Given the description of an element on the screen output the (x, y) to click on. 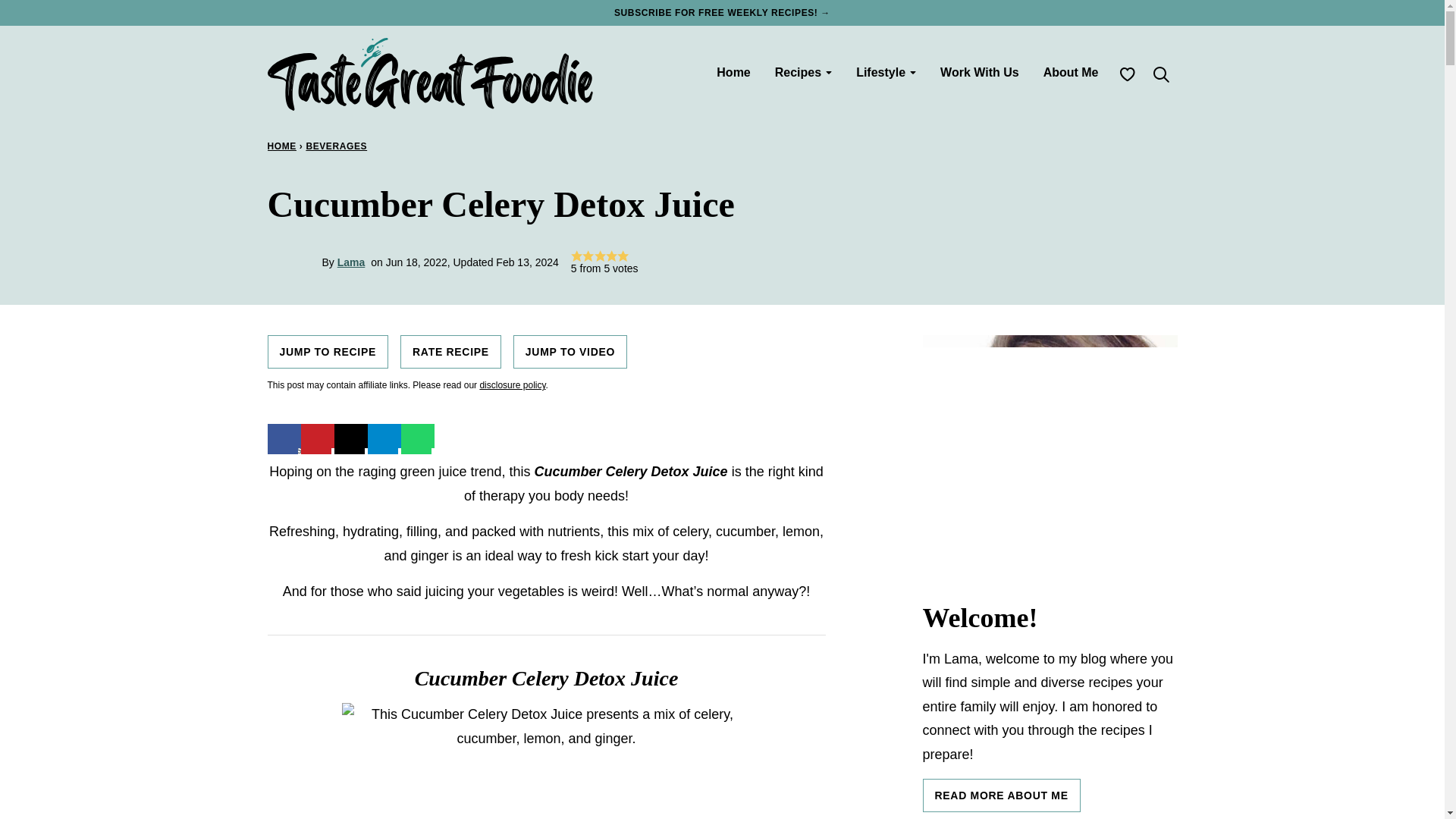
Recipes (803, 72)
Share on Telegram (383, 435)
About Me (1070, 72)
Work With Us (979, 72)
Weight Loss Cucumber Celery Detox Juice Recipe (545, 760)
Share on Facebook (282, 435)
Lifestyle (886, 72)
Share on Threads (349, 435)
Home (732, 72)
Share on WhatsApp (416, 435)
